Given the description of an element on the screen output the (x, y) to click on. 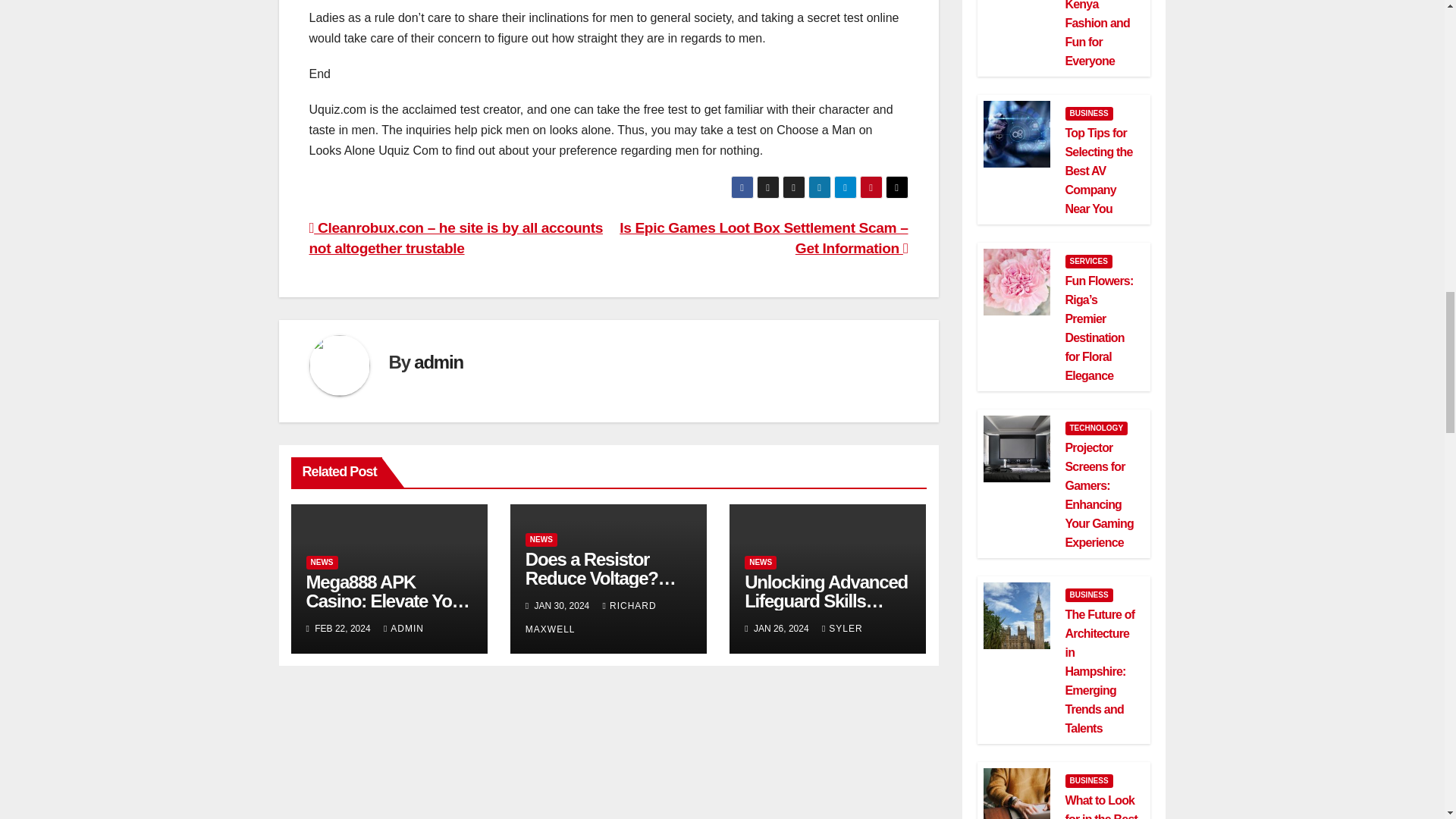
SYLER (842, 628)
Unlocking Advanced Lifeguard Skills Through Online Training (825, 610)
Does a Resistor Reduce Voltage? Everything Explained (601, 587)
NEWS (541, 540)
admin (438, 362)
RICHARD MAXWELL (590, 617)
NEWS (321, 562)
NEWS (760, 562)
ADMIN (403, 628)
